Given the description of an element on the screen output the (x, y) to click on. 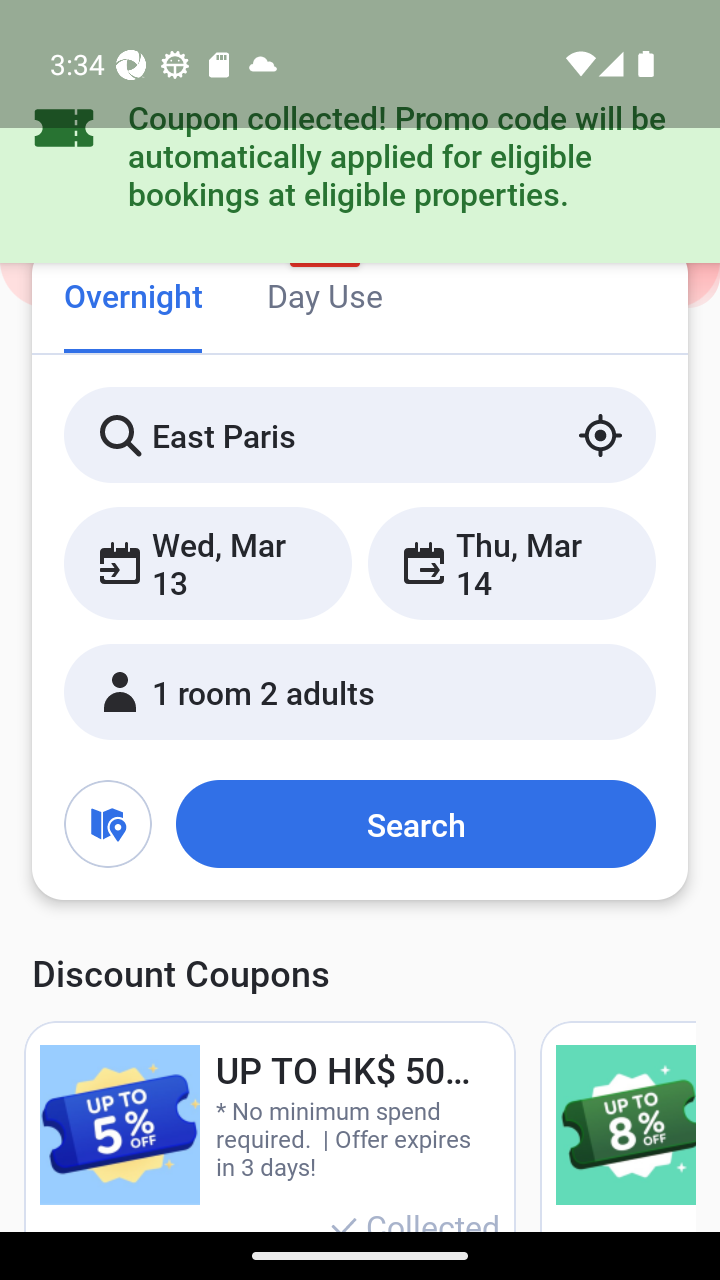
Day Use (324, 298)
East Paris (359, 434)
Wed, Mar 13 (208, 562)
Thu, Mar 14 (511, 562)
1 room 2 adults (359, 691)
Search (415, 823)
